Given the description of an element on the screen output the (x, y) to click on. 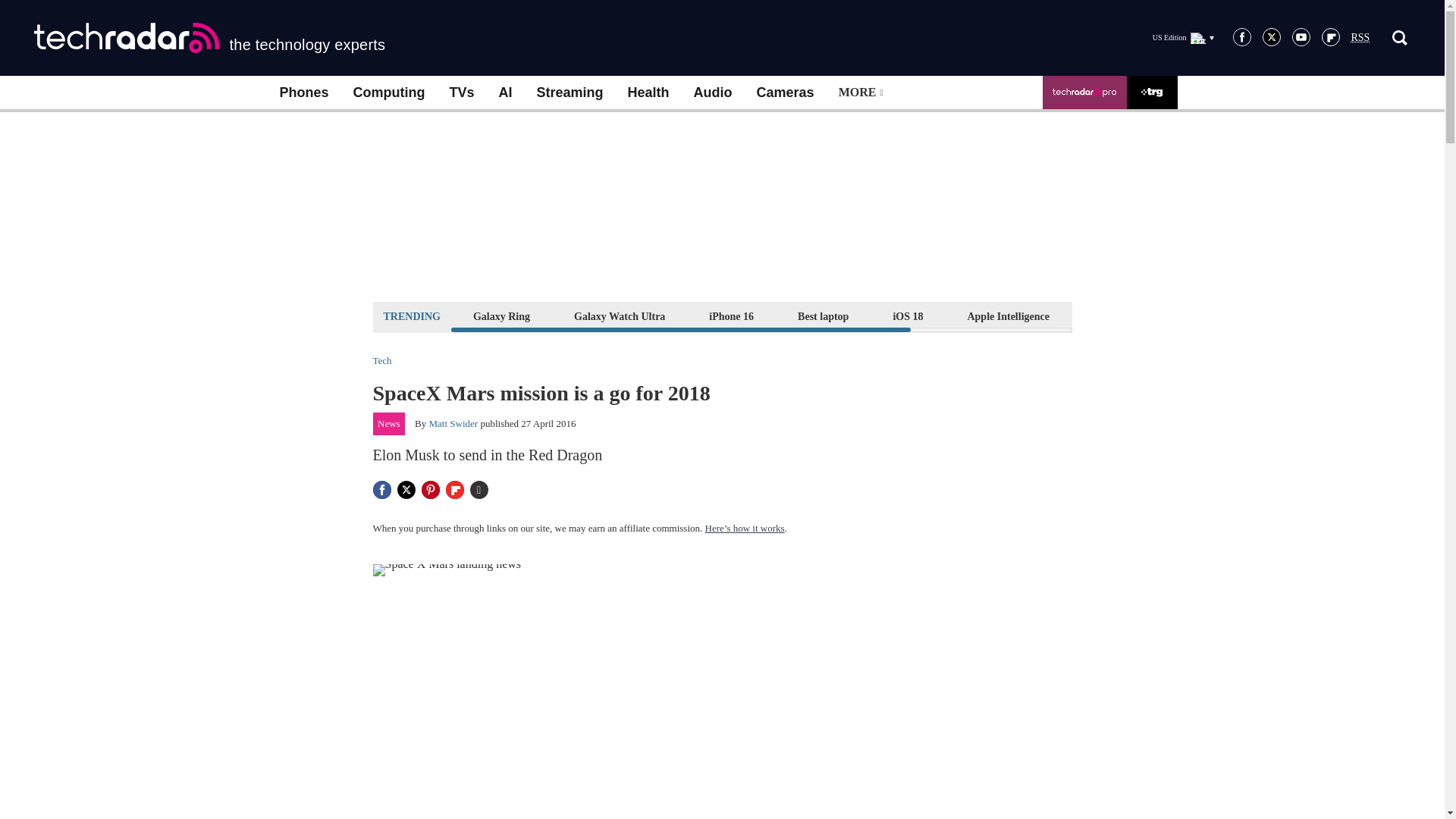
Computing (389, 92)
Health (648, 92)
Streaming (569, 92)
the technology experts (209, 38)
Cameras (785, 92)
Really Simple Syndication (1360, 37)
AI (505, 92)
Phones (303, 92)
TVs (461, 92)
Audio (712, 92)
US Edition (1182, 37)
